Given the description of an element on the screen output the (x, y) to click on. 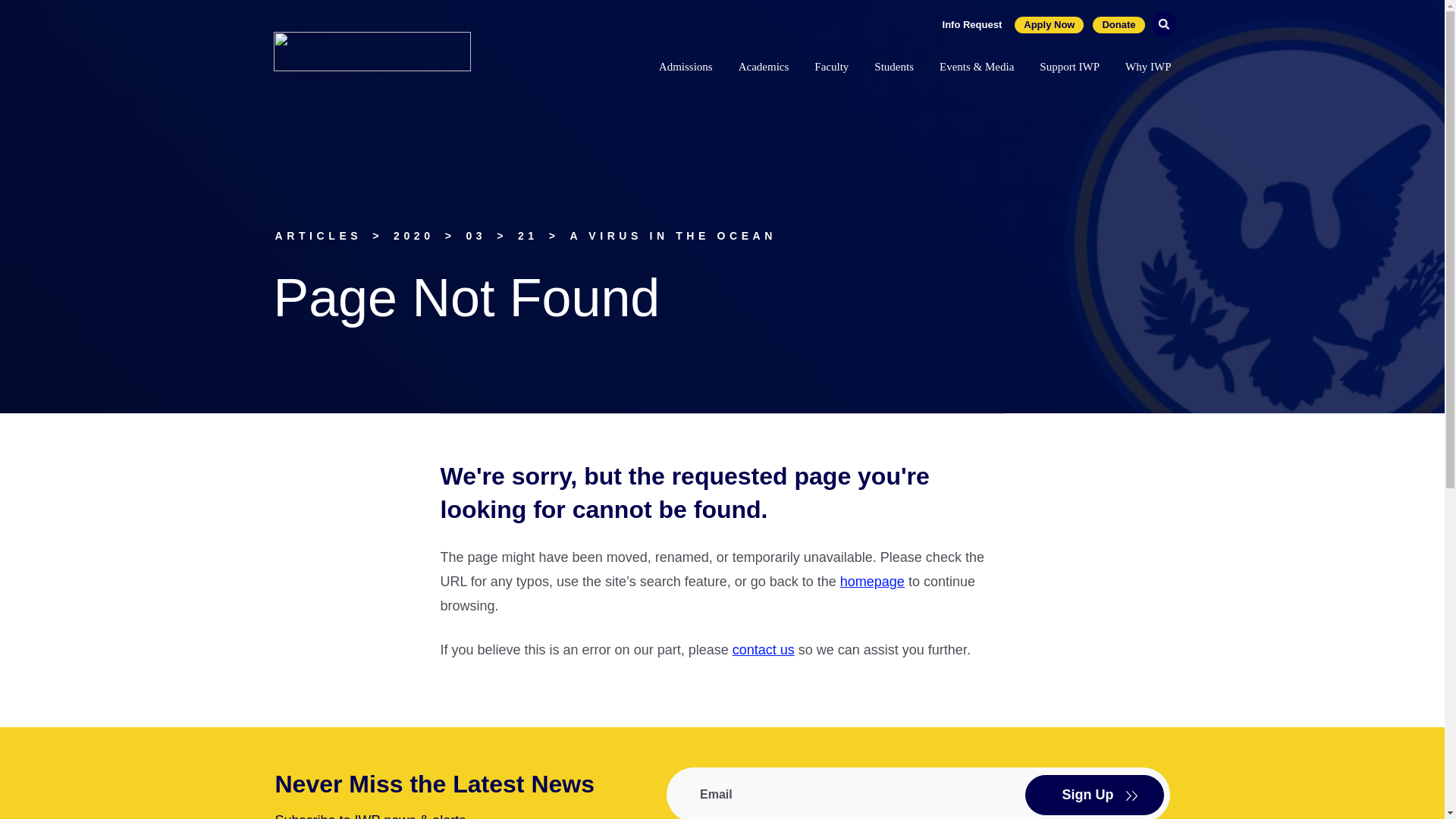
Donate (1118, 24)
Info Request (972, 24)
Apply Now (1048, 24)
Admissions (685, 68)
Sign Up (1094, 794)
Academics (763, 68)
